Given the description of an element on the screen output the (x, y) to click on. 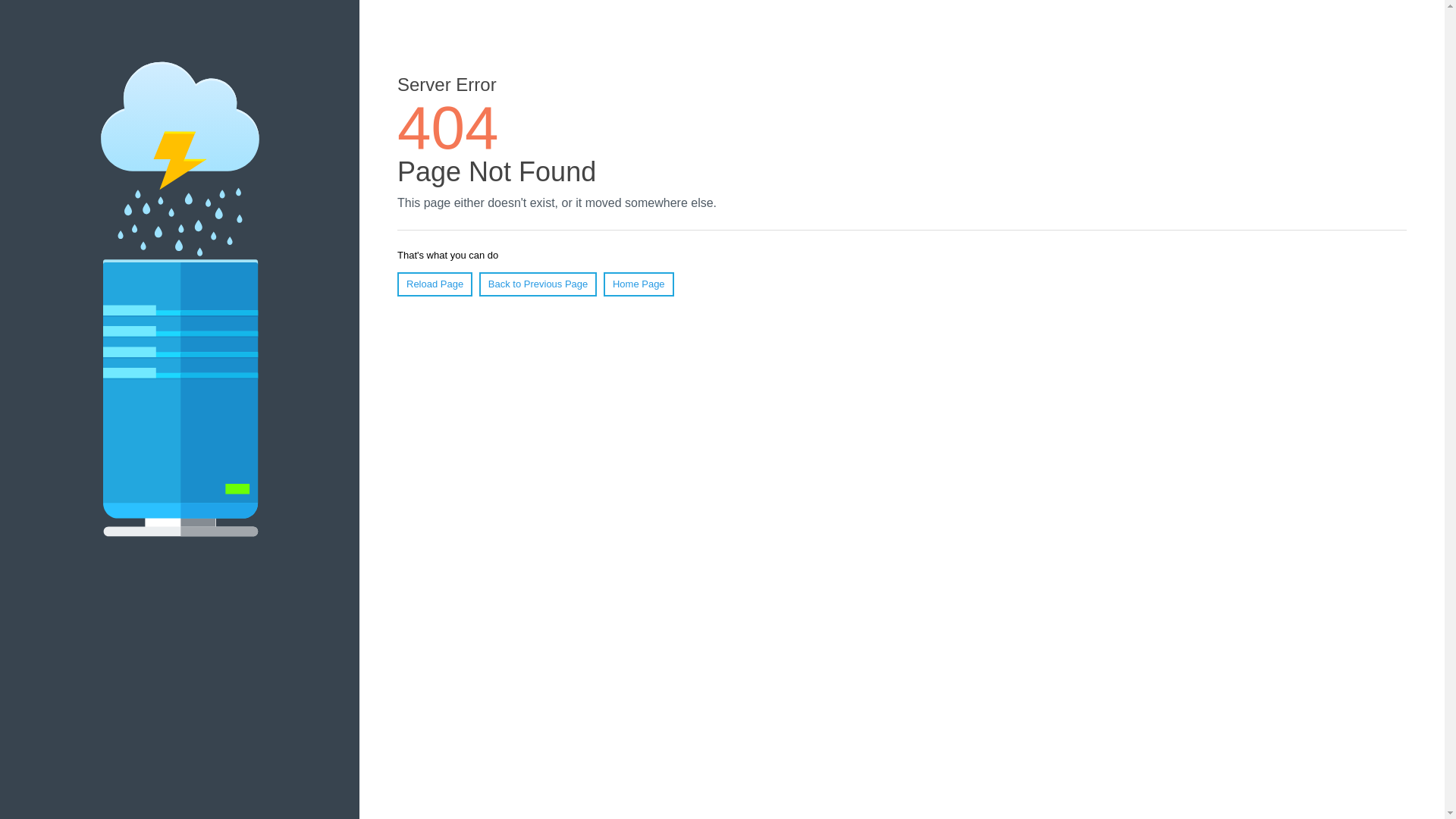
Back to Previous Page (537, 283)
Reload Page (434, 283)
Home Page (639, 283)
